Given the description of an element on the screen output the (x, y) to click on. 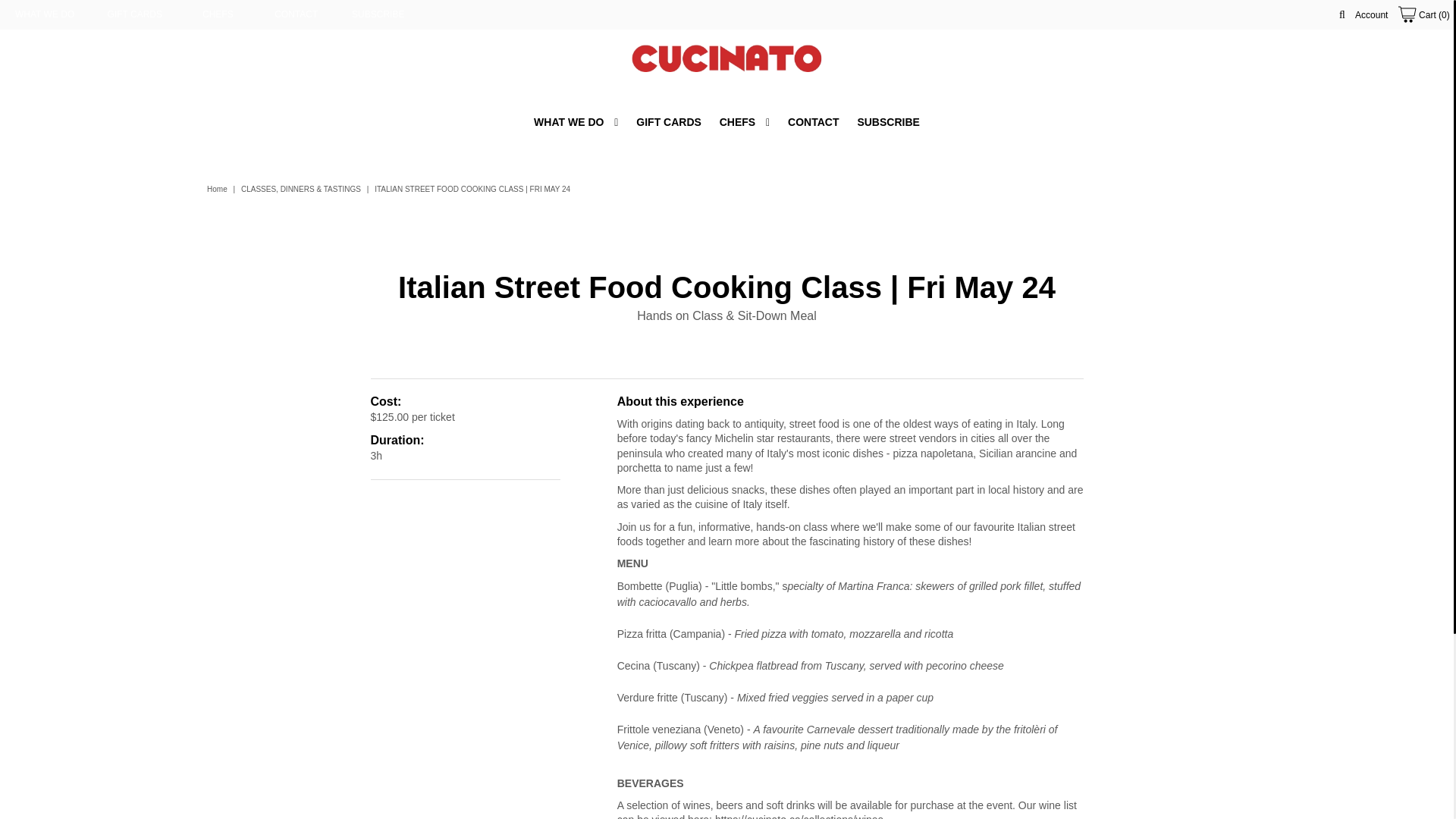
WHAT WE DO (575, 122)
GIFT CARDS (135, 14)
Account (1371, 14)
Home (218, 189)
CHEFS (744, 122)
SUBSCRIBE (377, 14)
WHAT WE DO (44, 14)
GIFT CARDS (668, 122)
CONTACT (296, 14)
CHEFS (217, 14)
